Given the description of an element on the screen output the (x, y) to click on. 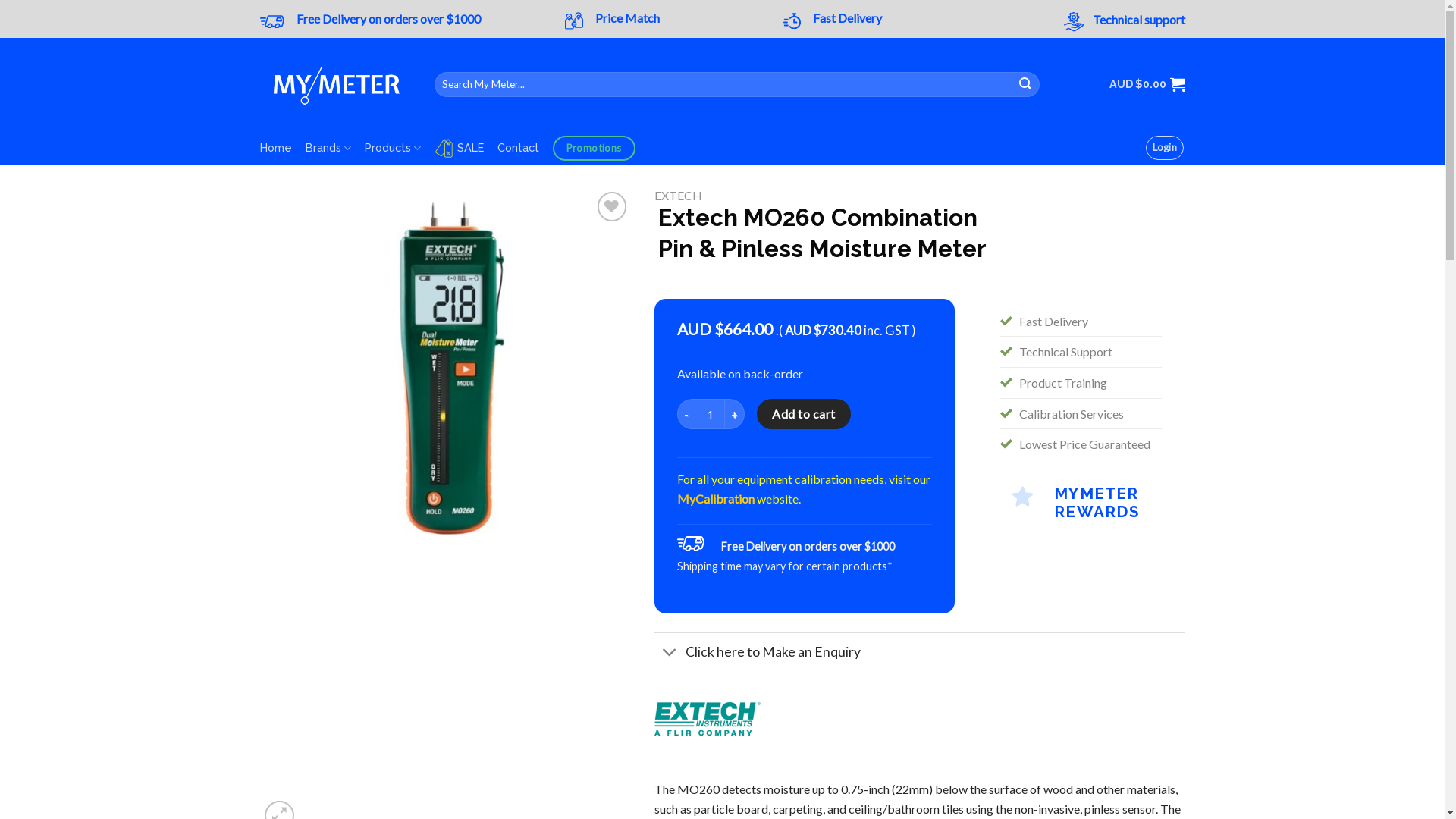
AUD $0.00 Element type: text (1146, 83)
Contact Element type: text (518, 147)
Brands Element type: text (327, 148)
Technical Support Element type: text (1065, 351)
Click here to Make an Enquiry Element type: text (919, 651)
MyCalibration Element type: text (715, 498)
Promotions Element type: text (593, 147)
Skip to content Element type: text (0, 0)
SALE Element type: text (458, 148)
Fast Delivery Element type: text (1053, 320)
EXTECH Element type: text (678, 195)
Home Element type: text (275, 147)
Login Element type: text (1164, 147)
MO260 app1 Element type: hover (817, 457)
My Meter - Electrical Test Equipment | Melbourne Element type: hover (335, 84)
MYMETER
REWARDS Element type: text (1081, 500)
Lowest Price Guaranteed Element type: text (1084, 443)
Products Element type: text (392, 148)
Free Delivery on orders over $1000 Element type: text (387, 18)
Product Training Element type: text (1063, 382)
Search Element type: text (1025, 84)
Add to cart Element type: text (803, 413)
Extech MO260 Combination Pin & Pinless Moisture Meter Element type: hover (445, 374)
Calibration Services Element type: text (1071, 413)
